Given the description of an element on the screen output the (x, y) to click on. 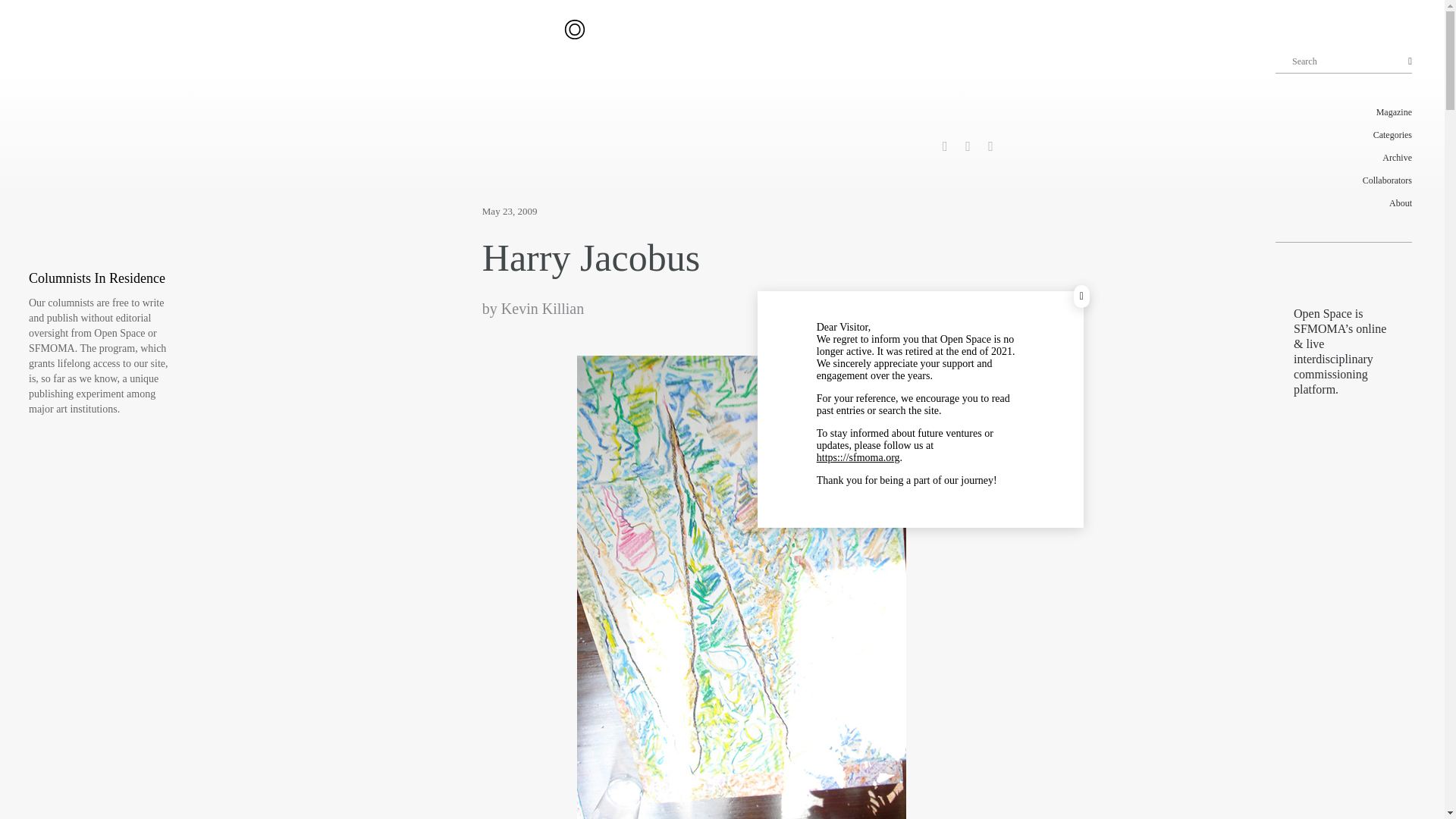
Kevin Killian (541, 308)
Categories (1343, 134)
Archive (1343, 157)
View all posts in Columnists In Residence (97, 278)
Columnists In Residence (97, 278)
Magazine (1343, 111)
www.sfmoma.org (857, 457)
Collaborators (1343, 179)
About (1343, 202)
